Given the description of an element on the screen output the (x, y) to click on. 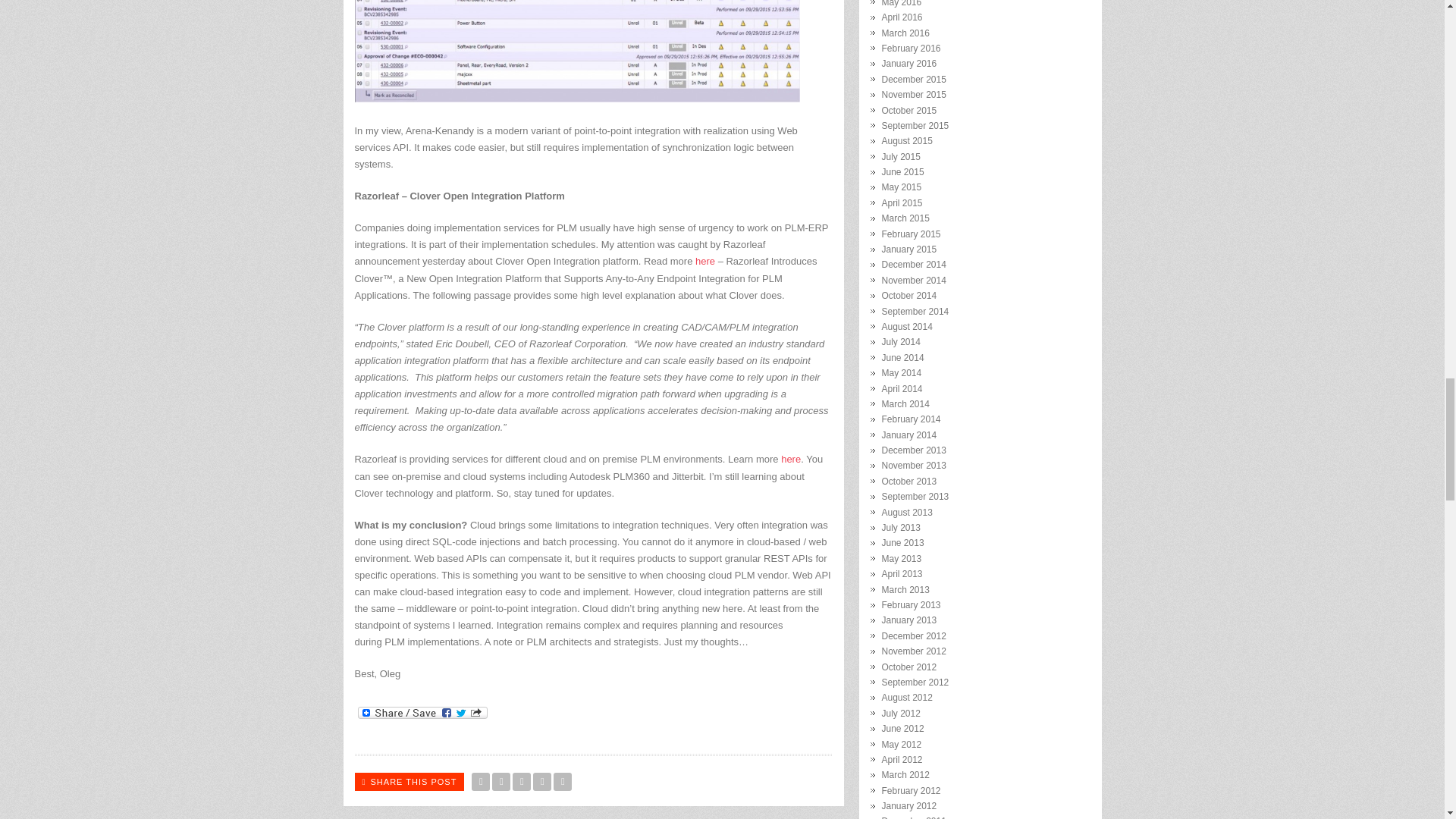
Share on Pinterest (541, 782)
here (704, 260)
Share on LinkedIn (562, 782)
Share on Twitter (480, 782)
here (790, 459)
Share on Facebook (501, 782)
